Given the description of an element on the screen output the (x, y) to click on. 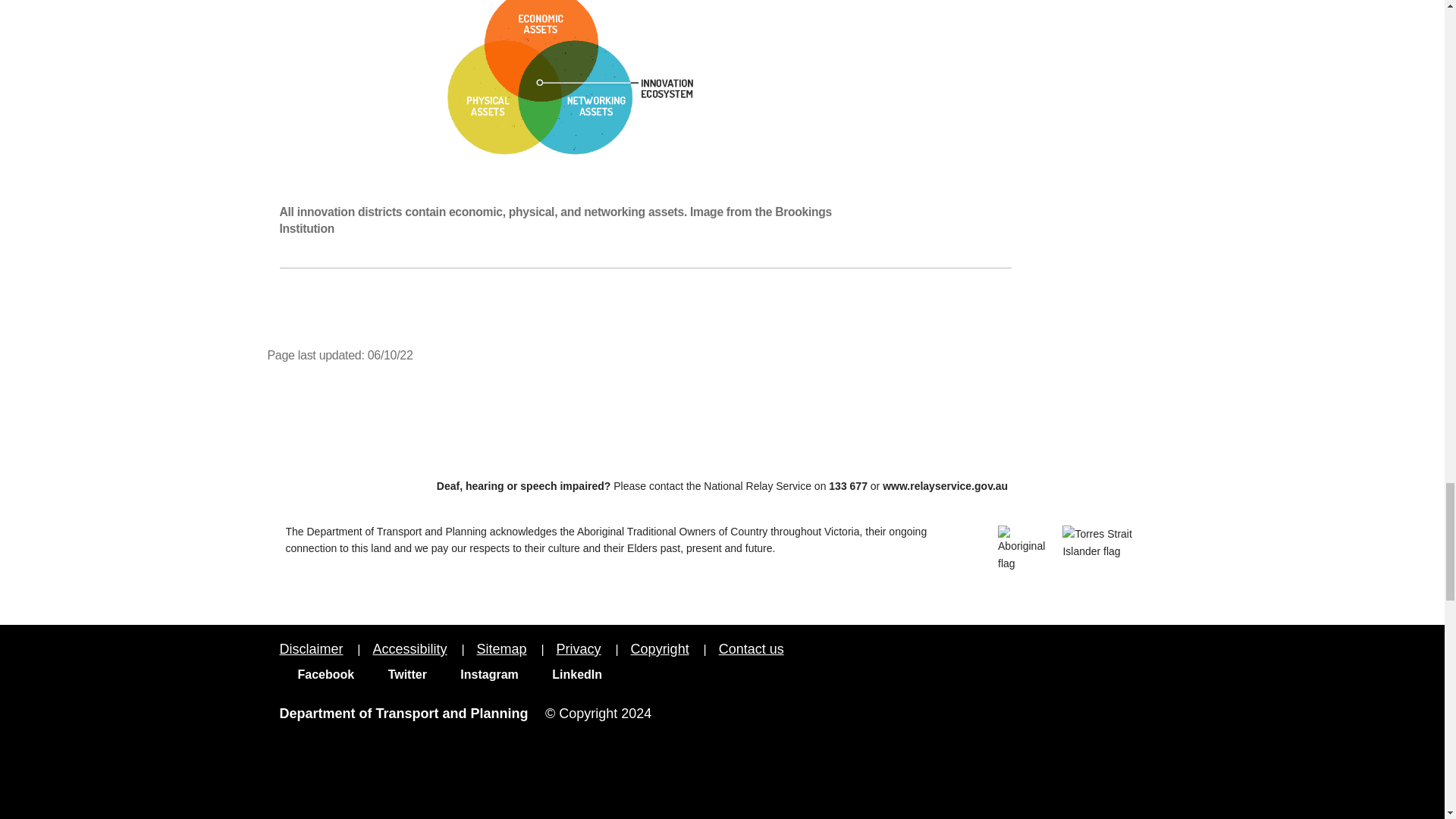
Facebook (316, 674)
Instagram (480, 674)
vic.gov.au (1126, 662)
Twitter (397, 674)
LinkedIn (568, 674)
